Given the description of an element on the screen output the (x, y) to click on. 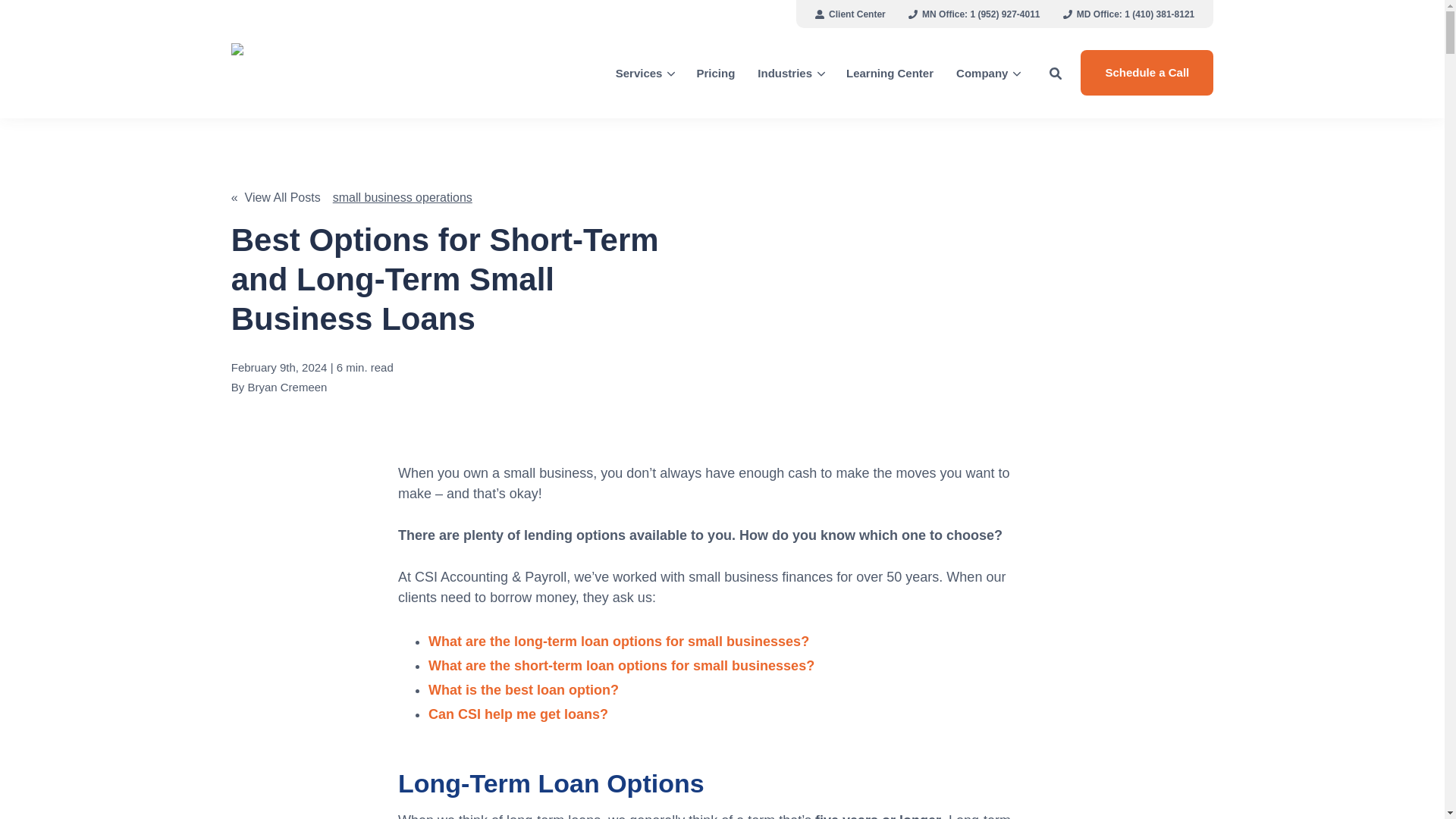
Client Center (849, 13)
Learning Center (889, 73)
Open Search (1055, 73)
Open Search (1055, 73)
Schedule a Call (1146, 72)
Bryan Cremeen (286, 386)
small business operations (402, 197)
